Given the description of an element on the screen output the (x, y) to click on. 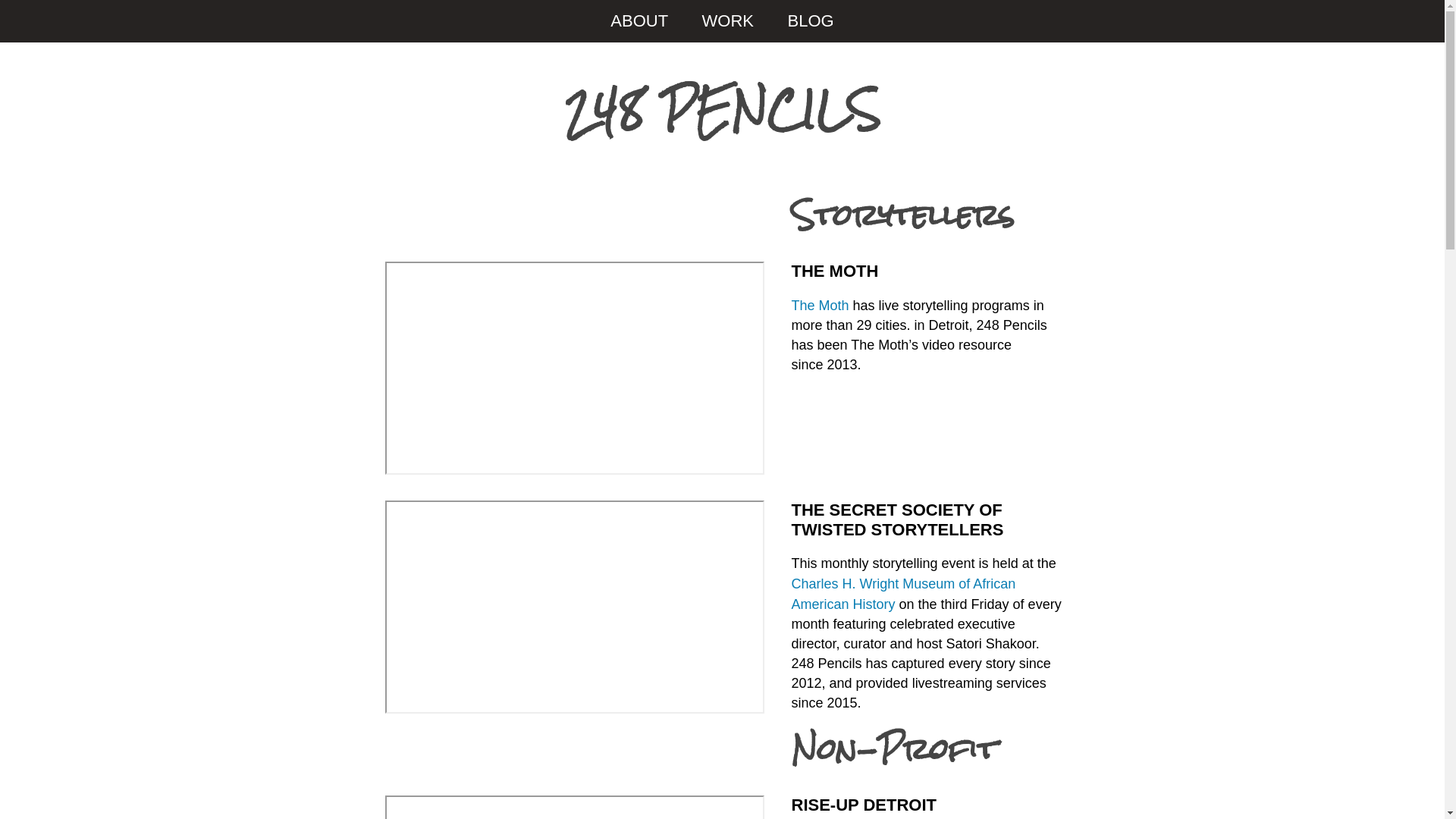
BLOG Element type: text (809, 21)
Charles H. Wright Museum of African American History Element type: text (903, 592)
WORK Element type: text (727, 21)
248 PENCILS Element type: text (722, 118)
The Moth Element type: text (820, 303)
ABOUT Element type: text (639, 21)
